Given the description of an element on the screen output the (x, y) to click on. 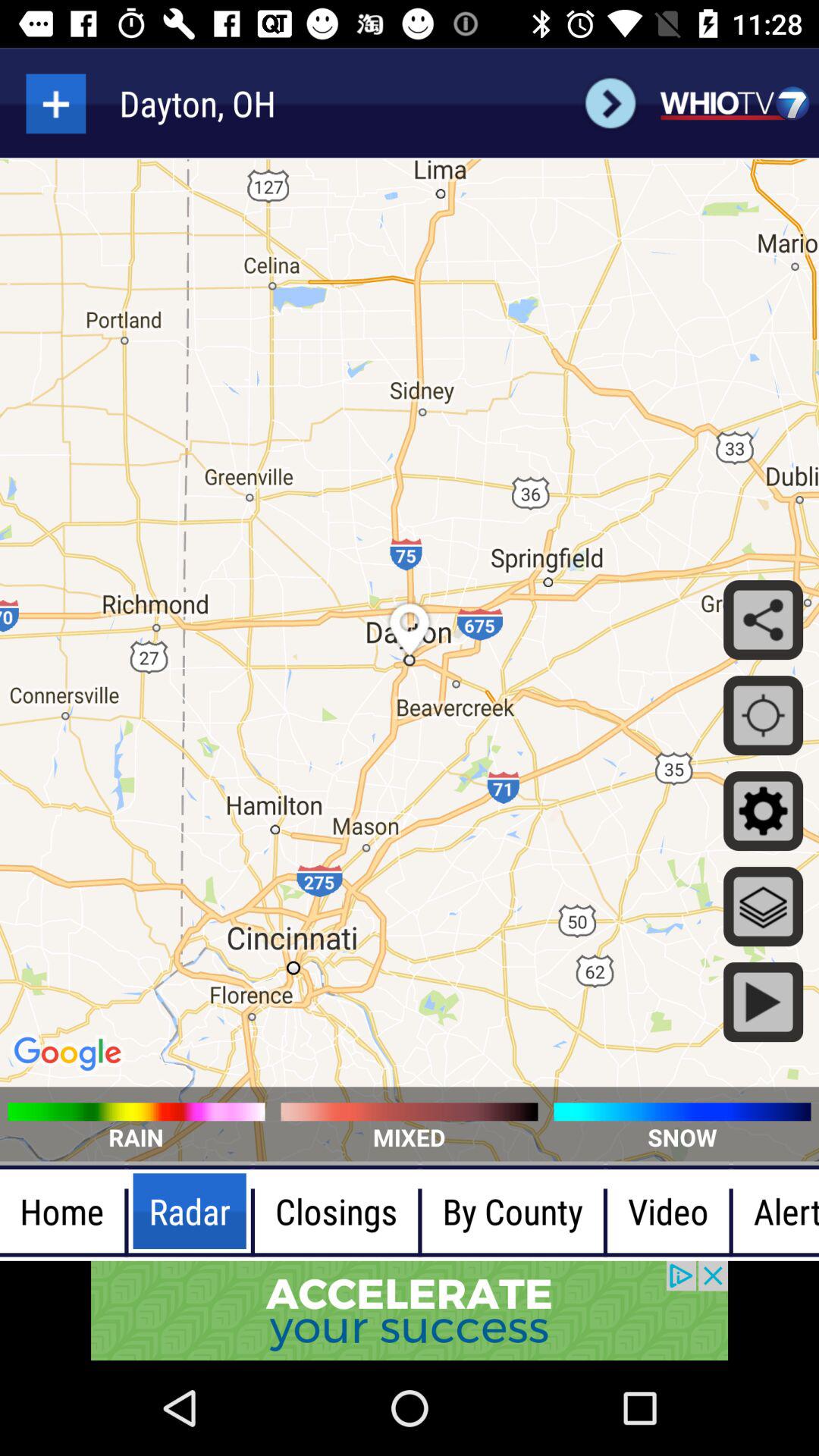
go to increase (55, 103)
